Given the description of an element on the screen output the (x, y) to click on. 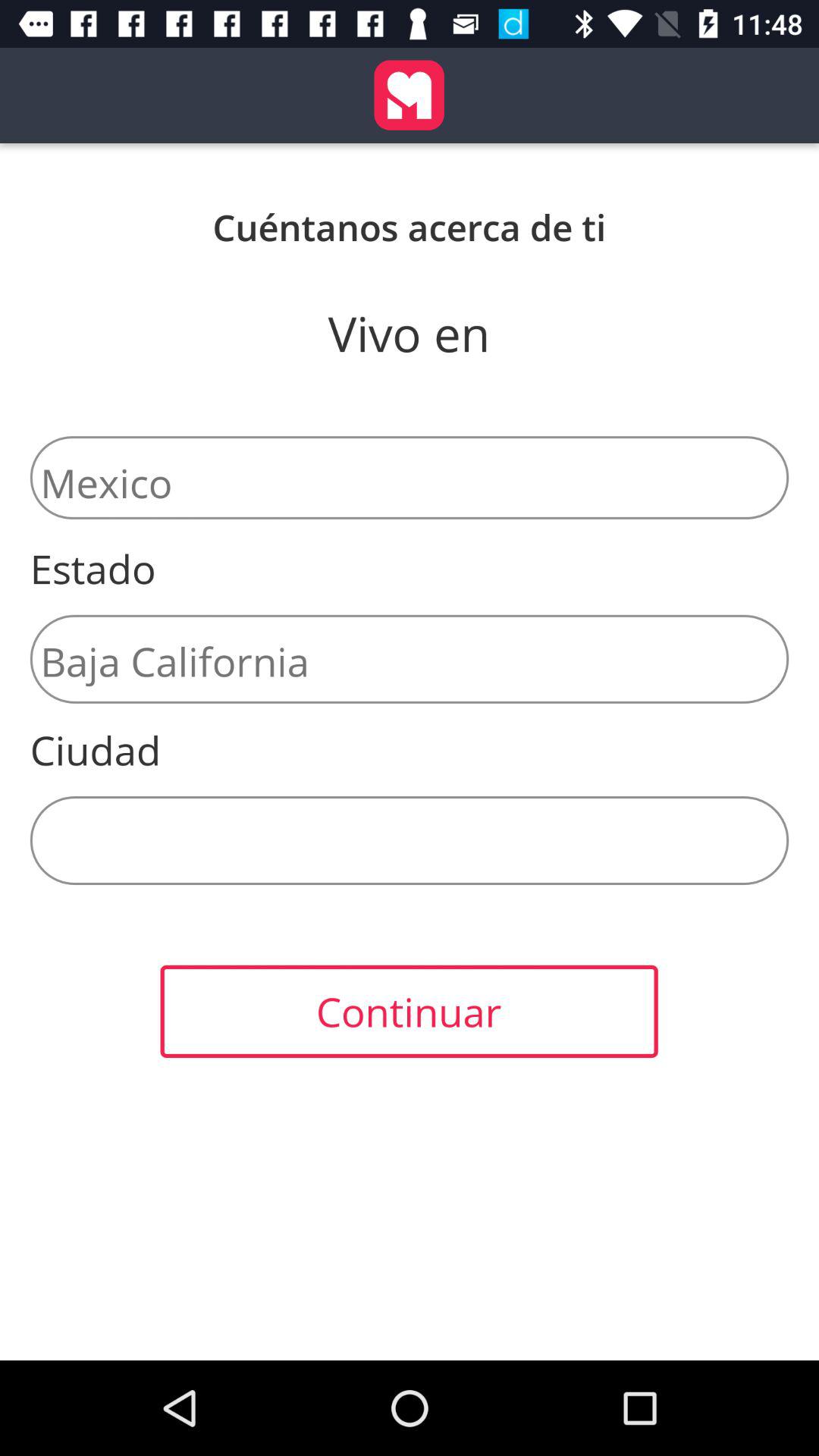
launch the icon above the estado icon (409, 477)
